Given the description of an element on the screen output the (x, y) to click on. 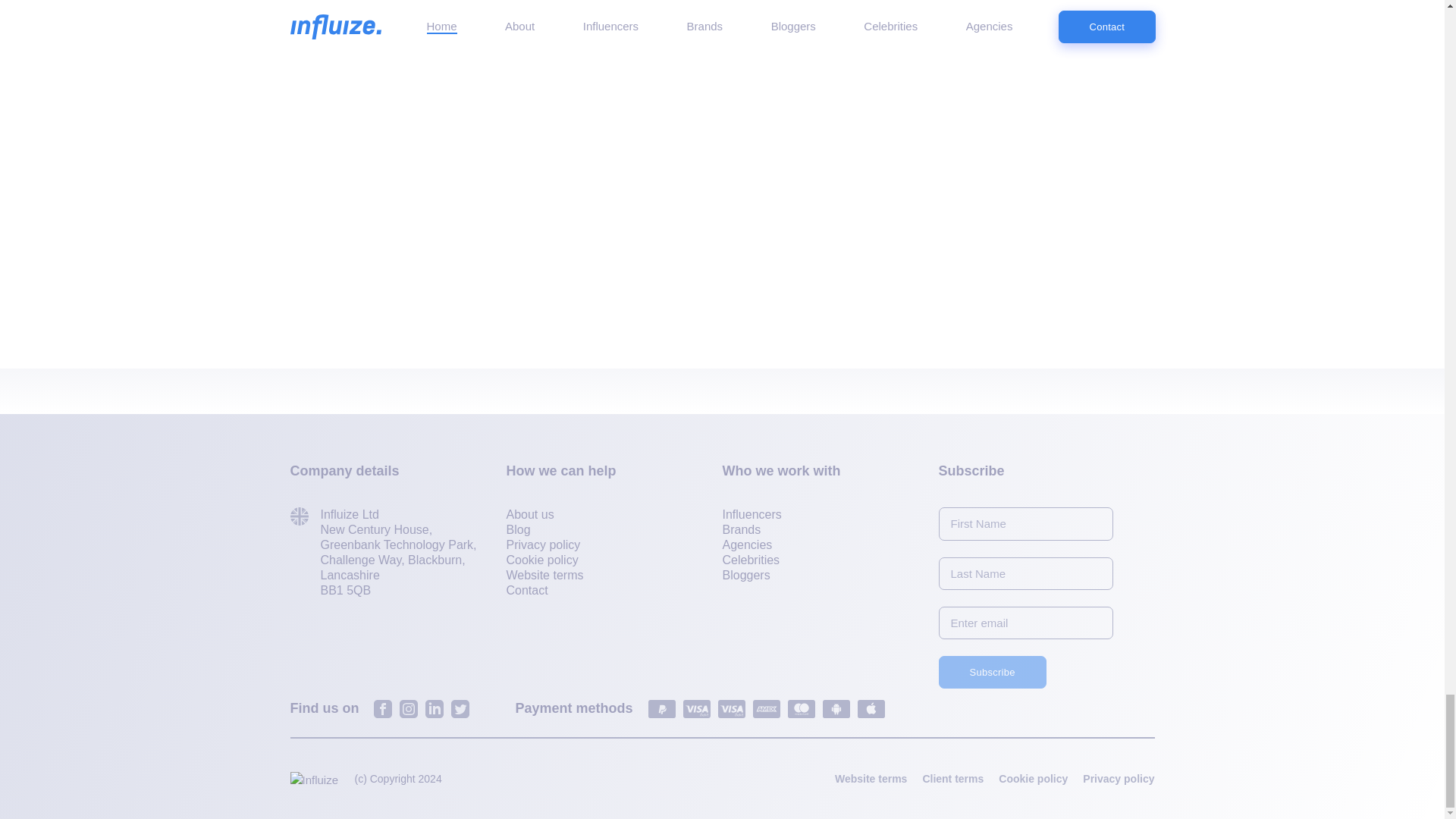
Agencies (746, 545)
Website terms (544, 575)
Brands (741, 530)
About us (530, 514)
Twitter (459, 709)
Subscribe (992, 672)
Subscribe (992, 672)
Blog (518, 530)
Instagram (407, 709)
Bloggers (746, 575)
